Given the description of an element on the screen output the (x, y) to click on. 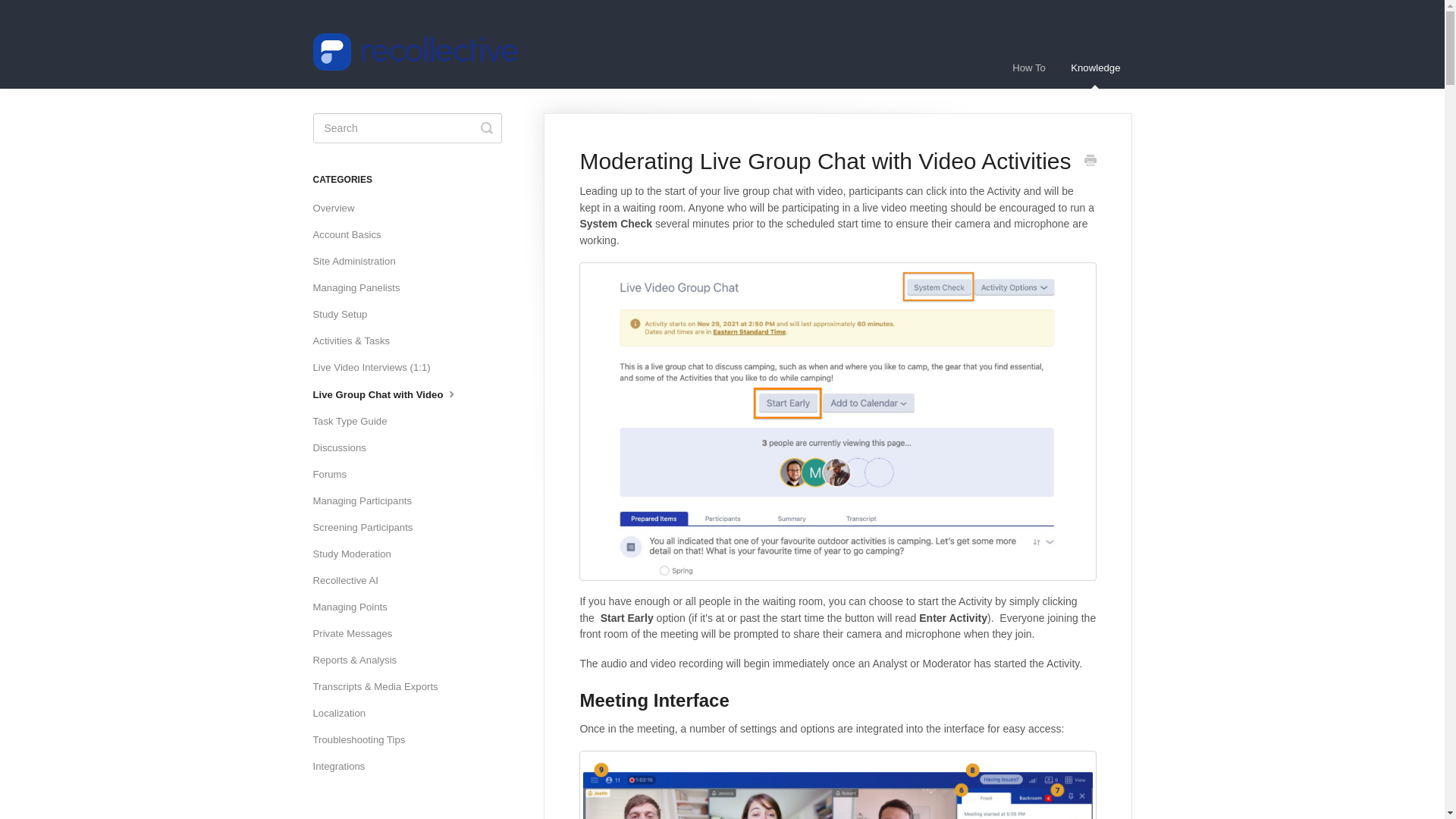
Recollective AI (351, 580)
Study Setup (345, 314)
Account Basics (352, 234)
Knowledge (1095, 67)
Site Administration (359, 261)
How To (1029, 67)
Managing Participants (367, 500)
Managing Panelists (361, 288)
search-query (406, 128)
Discussions (345, 447)
